Given the description of an element on the screen output the (x, y) to click on. 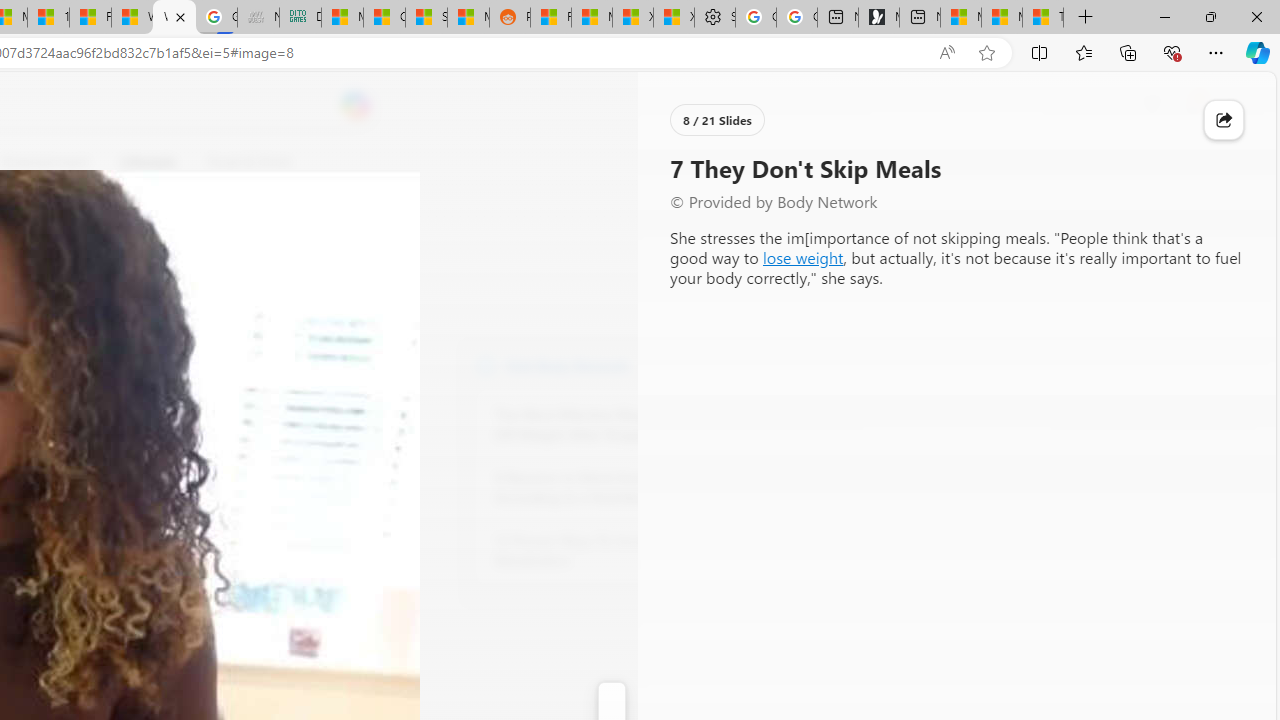
Share this story (1224, 119)
MSNBC - MSN (342, 17)
Lifestyle (148, 162)
Open Copilot (356, 105)
Notifications (1192, 105)
Food & Drink (240, 162)
